Given the description of an element on the screen output the (x, y) to click on. 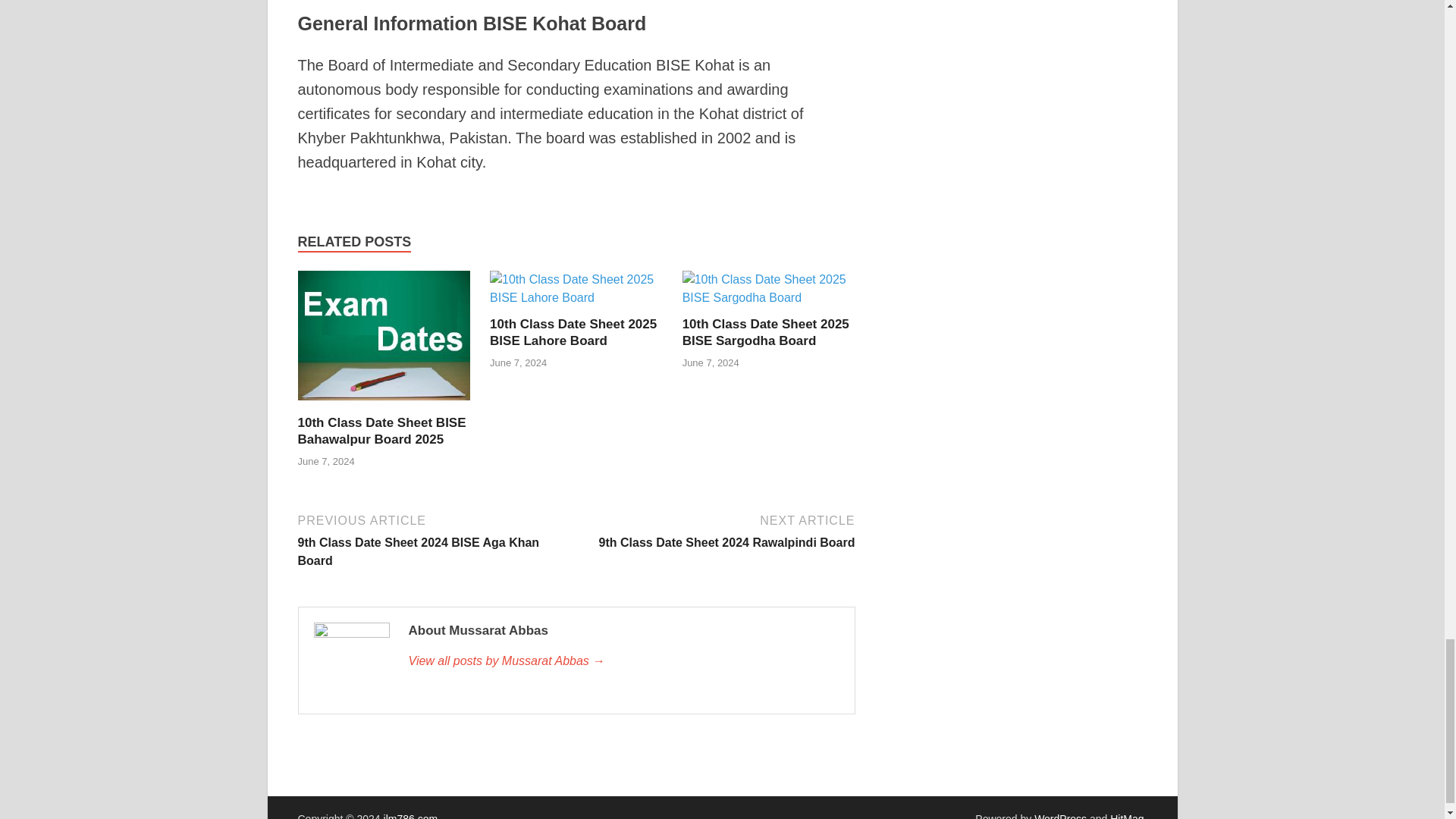
10th Class Date Sheet 2025 BISE Sargodha Board (765, 332)
10th Class Date Sheet BISE Bahawalpur Board 2025 (381, 430)
10th Class Date Sheet 2025 BISE Lahore Board (575, 297)
10th Class Date Sheet 2025 BISE Lahore Board (572, 332)
10th Class Date Sheet BISE Bahawalpur Board 2025 (383, 404)
Mussarat Abbas (622, 660)
10th Class Date Sheet 2025 BISE Sargodha Board (769, 297)
